Given the description of an element on the screen output the (x, y) to click on. 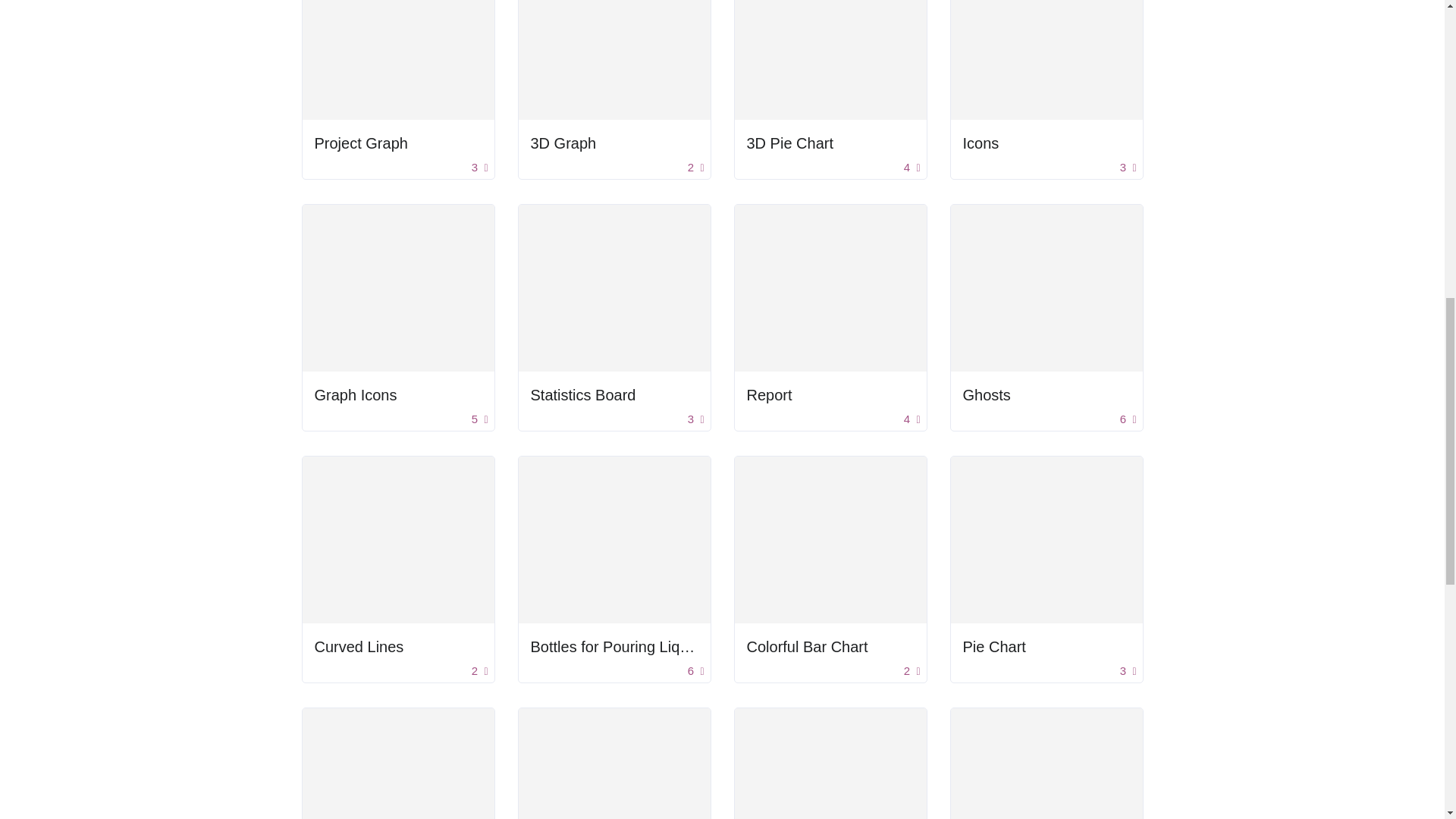
Graph Icons (397, 395)
3 people liked this (479, 167)
Ghosts (1046, 395)
Icons (980, 143)
5 people liked this (479, 419)
Pie Chart (994, 646)
Ghosts (986, 394)
Project Graph (360, 143)
3D Graph (614, 142)
Bottles for Pouring Liquids (614, 646)
